Given the description of an element on the screen output the (x, y) to click on. 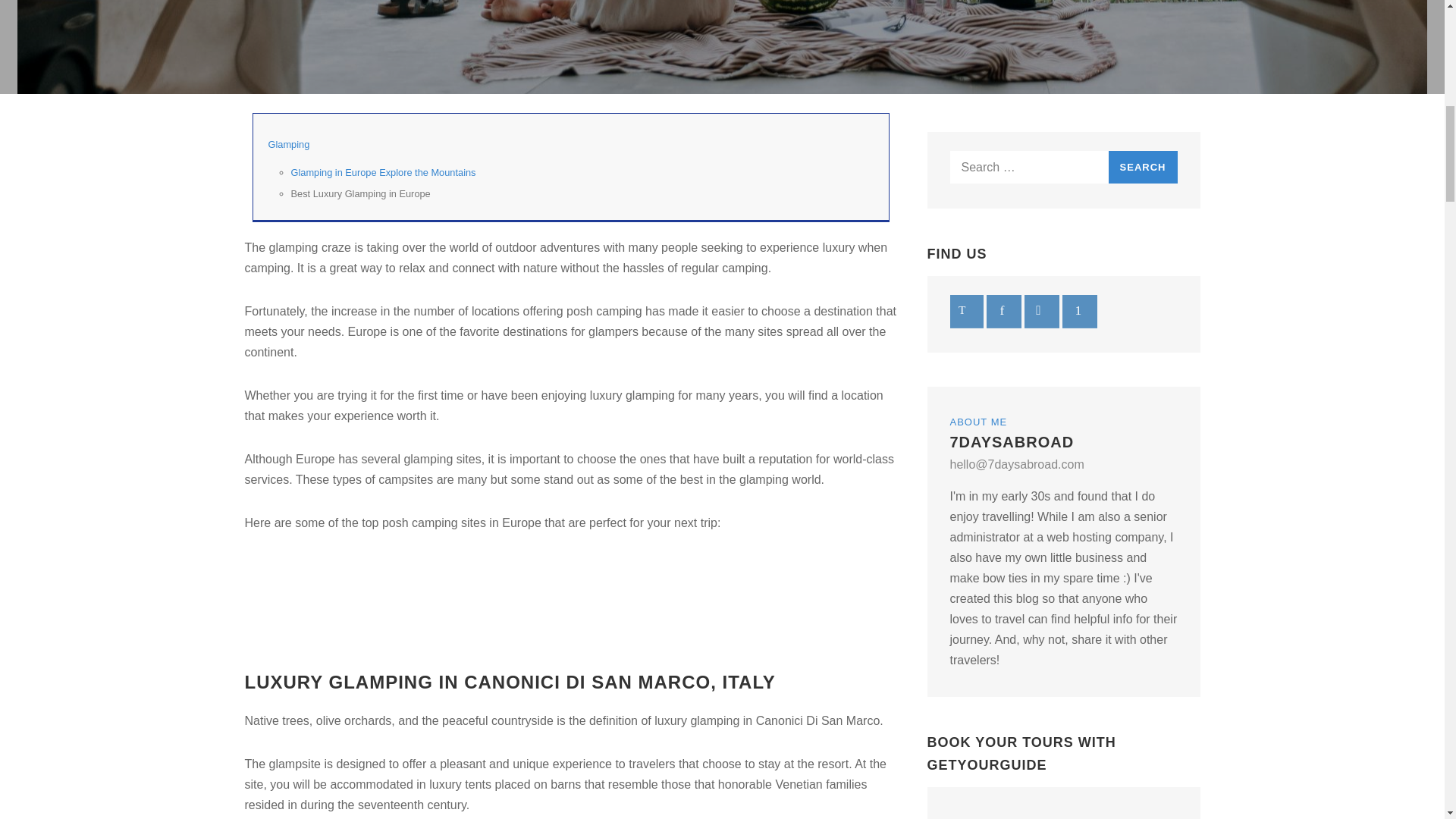
Glamping in Europe Explore the Mountains (383, 172)
Glamping (288, 143)
Search (1142, 166)
Search (1142, 166)
